Given the description of an element on the screen output the (x, y) to click on. 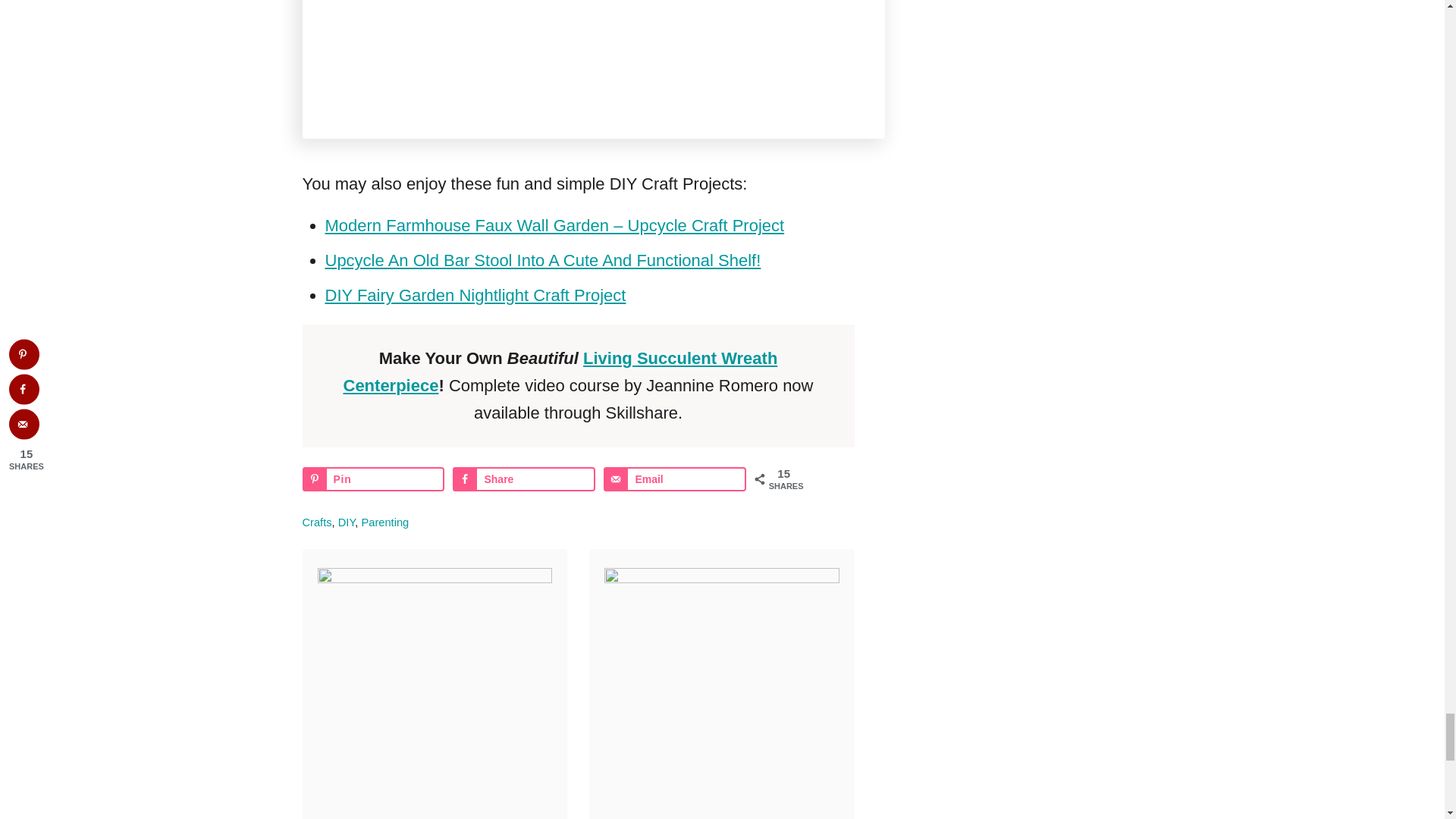
Save to Pinterest (372, 478)
Share on Facebook (523, 478)
Send over email (674, 478)
